Given the description of an element on the screen output the (x, y) to click on. 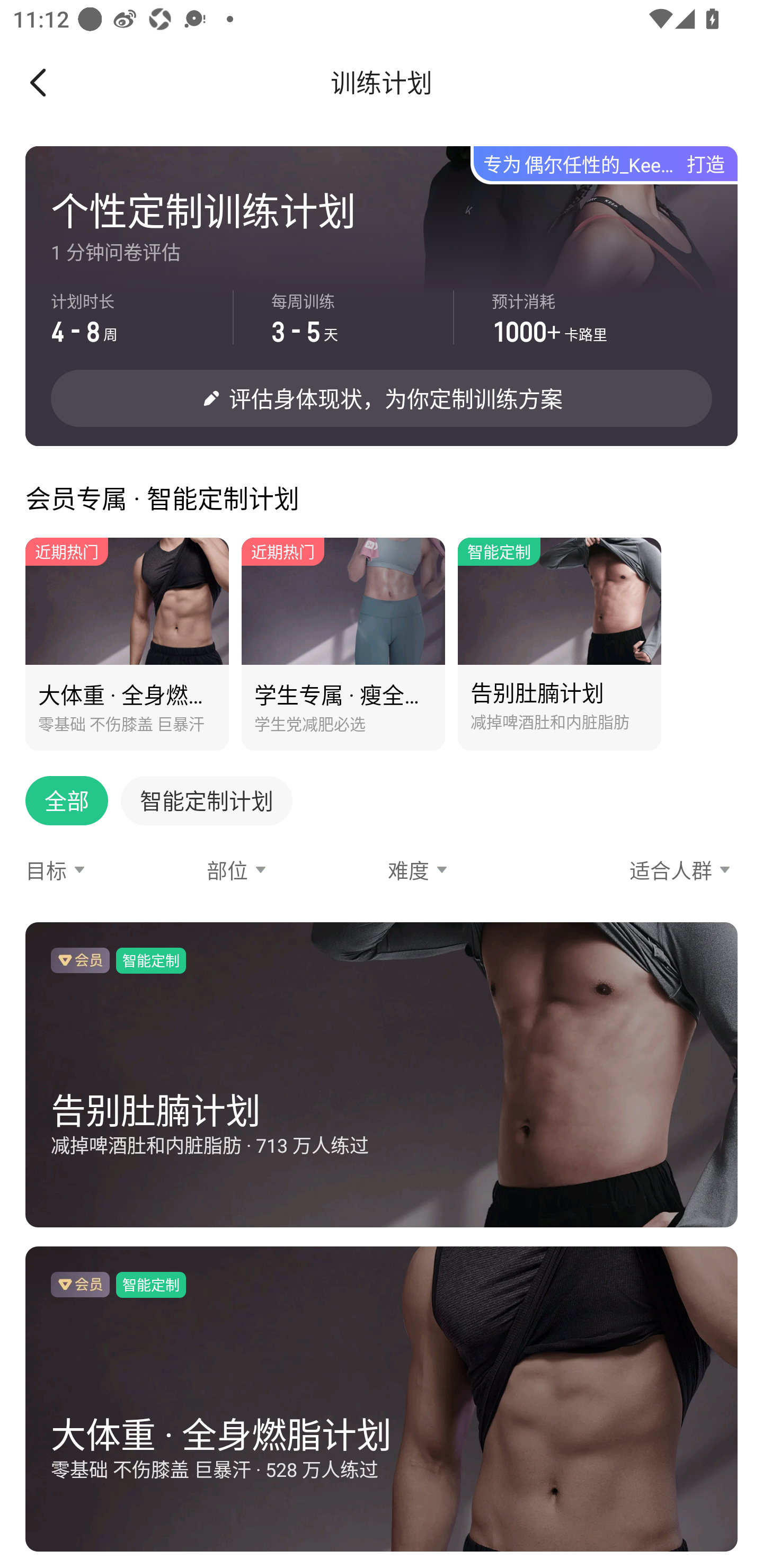
Left Button In Title Bar (50, 82)
近期热门 大体重 · 全身燃脂计划 零基础 不伤膝盖 巨暴汗 (126, 644)
近期热门 学生专属 · 瘦全身计划 学生党减肥必选 (342, 644)
智能定制 告别肚腩计划 减掉啤酒肚和内脏脂肪 (559, 644)
全部 (54, 787)
智能定制计划 (200, 787)
目标 (109, 869)
部位 (290, 869)
难度 (471, 869)
适合人群 (653, 869)
智能定制 告别肚腩计划 减掉啤酒肚和内脏脂肪 · 713 万人练过 (381, 1065)
智能定制 大体重 · 全身燃脂计划 零基础 不伤膝盖 巨暴汗 · 528 万人练过 (381, 1389)
